Given the description of an element on the screen output the (x, y) to click on. 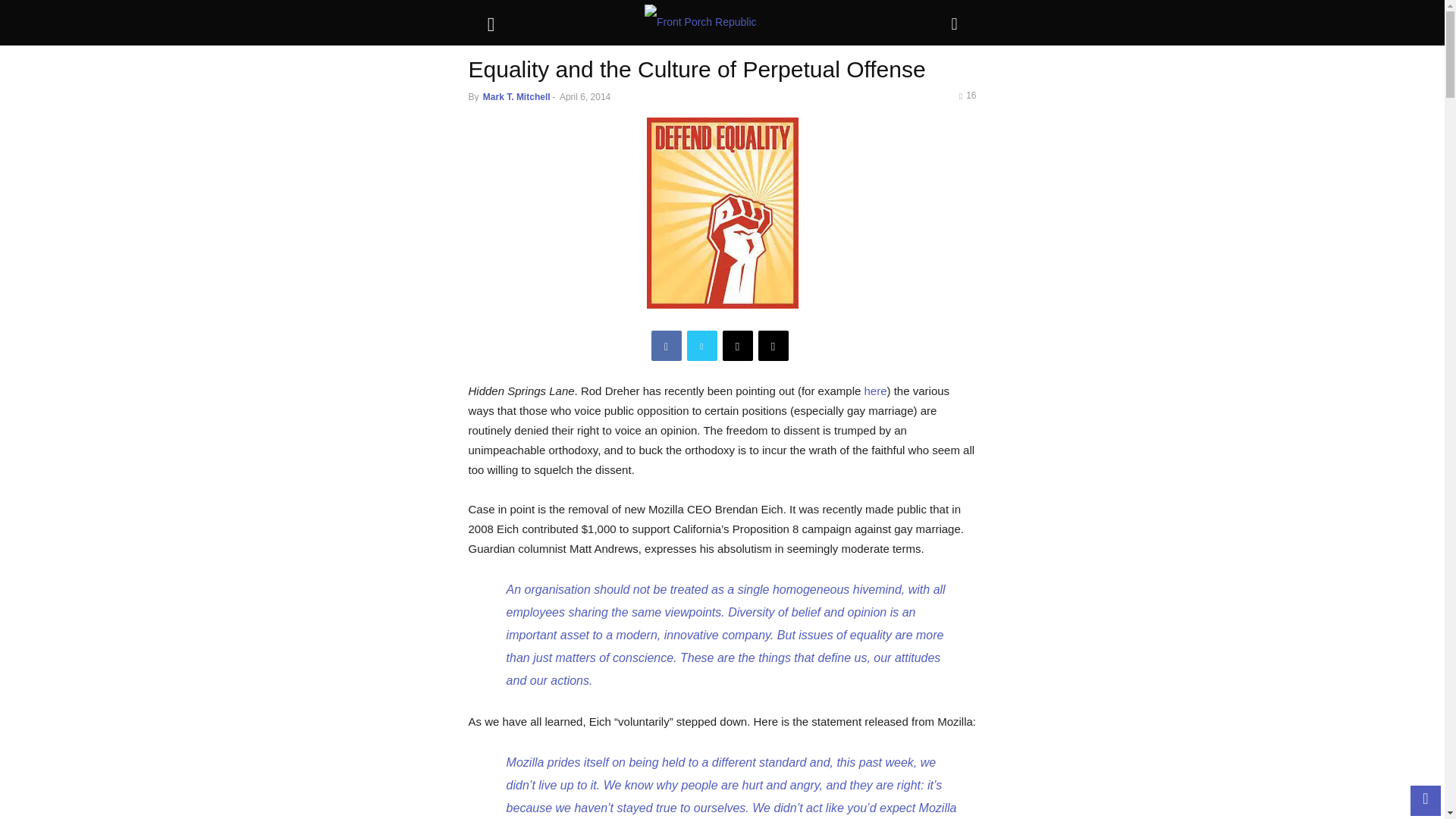
defend equality (722, 212)
16 (967, 95)
Facebook (665, 345)
Print (773, 345)
Twitter (702, 345)
here (875, 390)
Email (737, 345)
Mark T. Mitchell (516, 96)
